Given the description of an element on the screen output the (x, y) to click on. 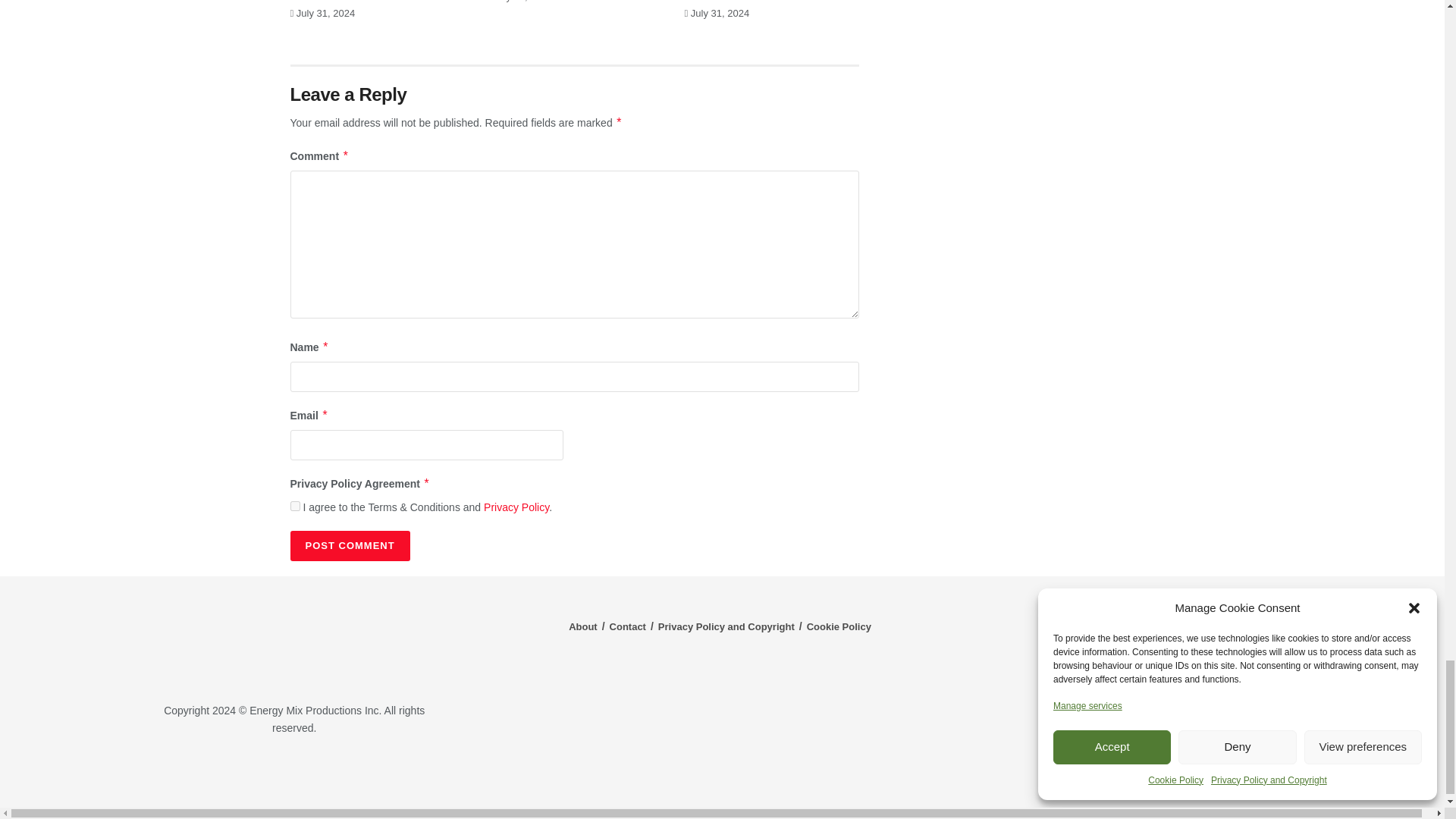
Post Comment (349, 545)
Climate-and-Capital (1221, 772)
tem-logo-2024 (294, 640)
on (294, 506)
